Given the description of an element on the screen output the (x, y) to click on. 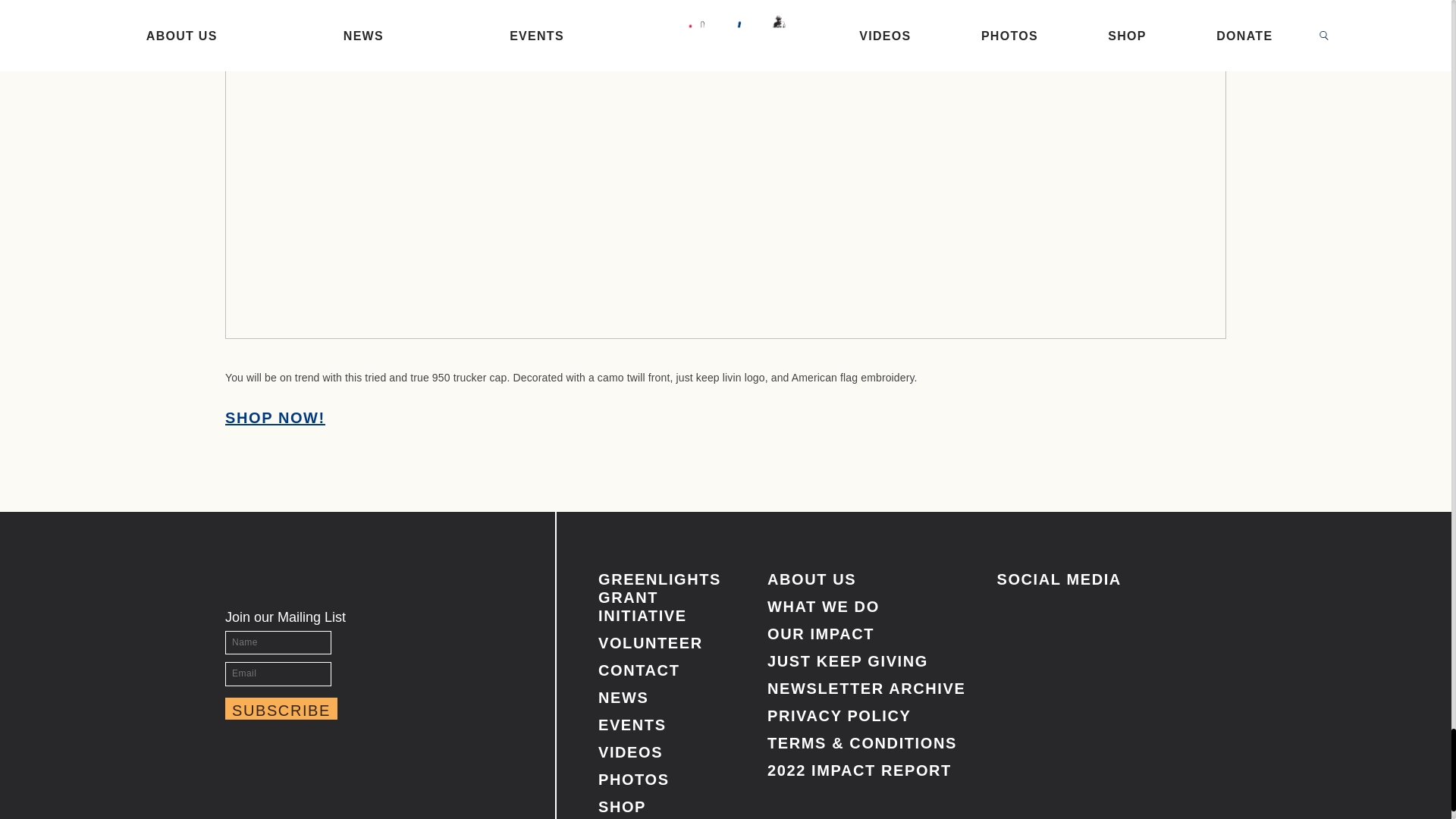
SUBSCRIBE (281, 708)
SHOP NOW! (274, 417)
GREENLIGHTS GRANT INITIATIVE (659, 597)
